Given the description of an element on the screen output the (x, y) to click on. 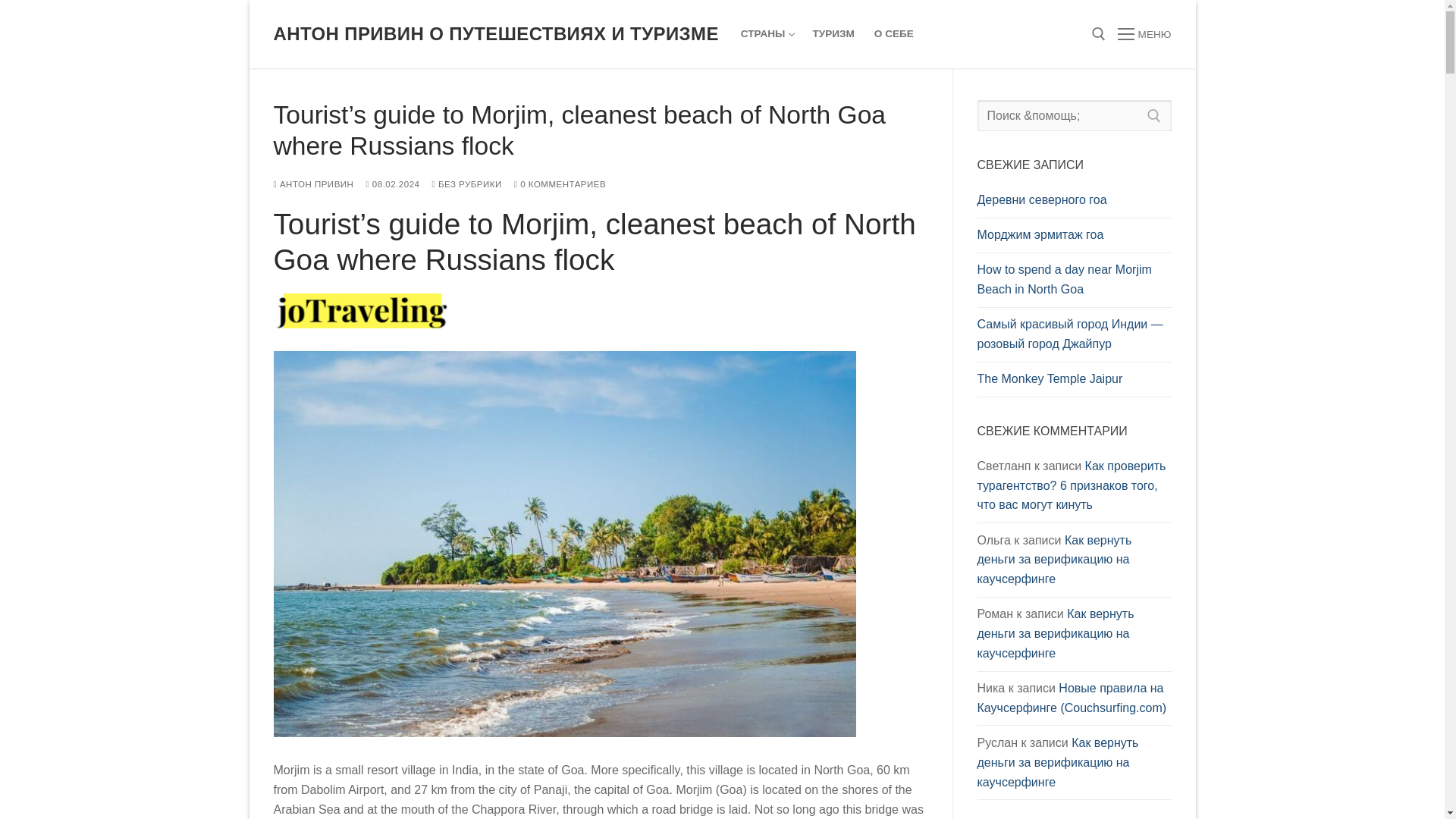
08.02.2024 (392, 184)
